Given the description of an element on the screen output the (x, y) to click on. 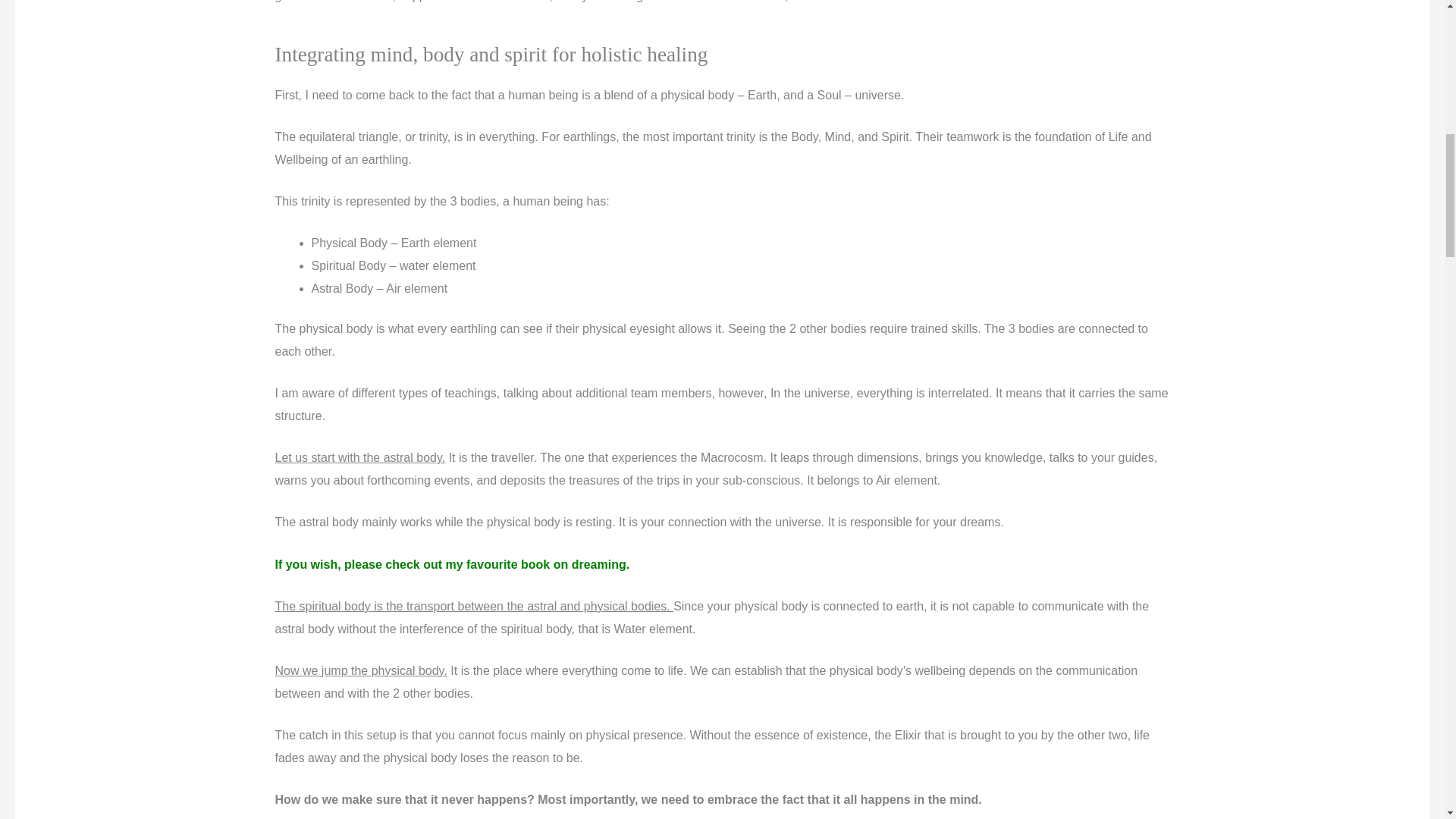
If you wish, please check out my favourite book on dreaming. (451, 563)
